Given the description of an element on the screen output the (x, y) to click on. 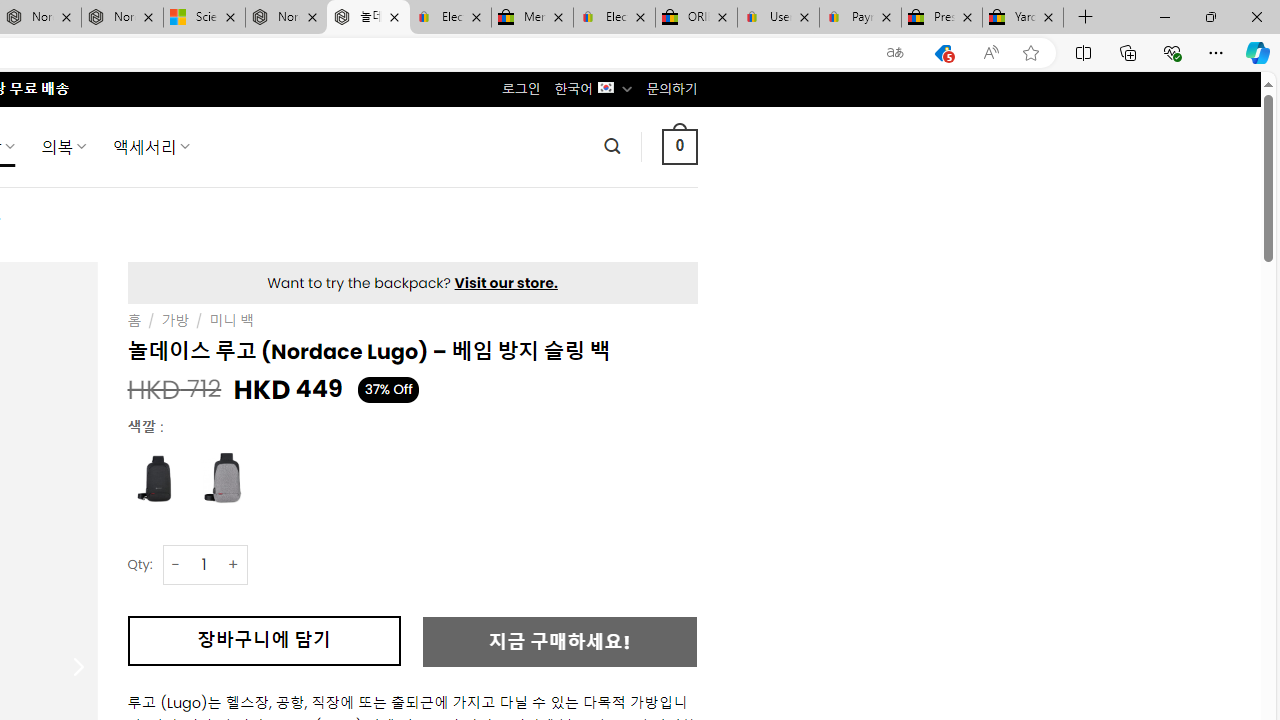
Show translate options (895, 53)
Yard, Garden & Outdoor Living (1023, 17)
User Privacy Notice | eBay (778, 17)
Press Room - eBay Inc. (941, 17)
